Given the description of an element on the screen output the (x, y) to click on. 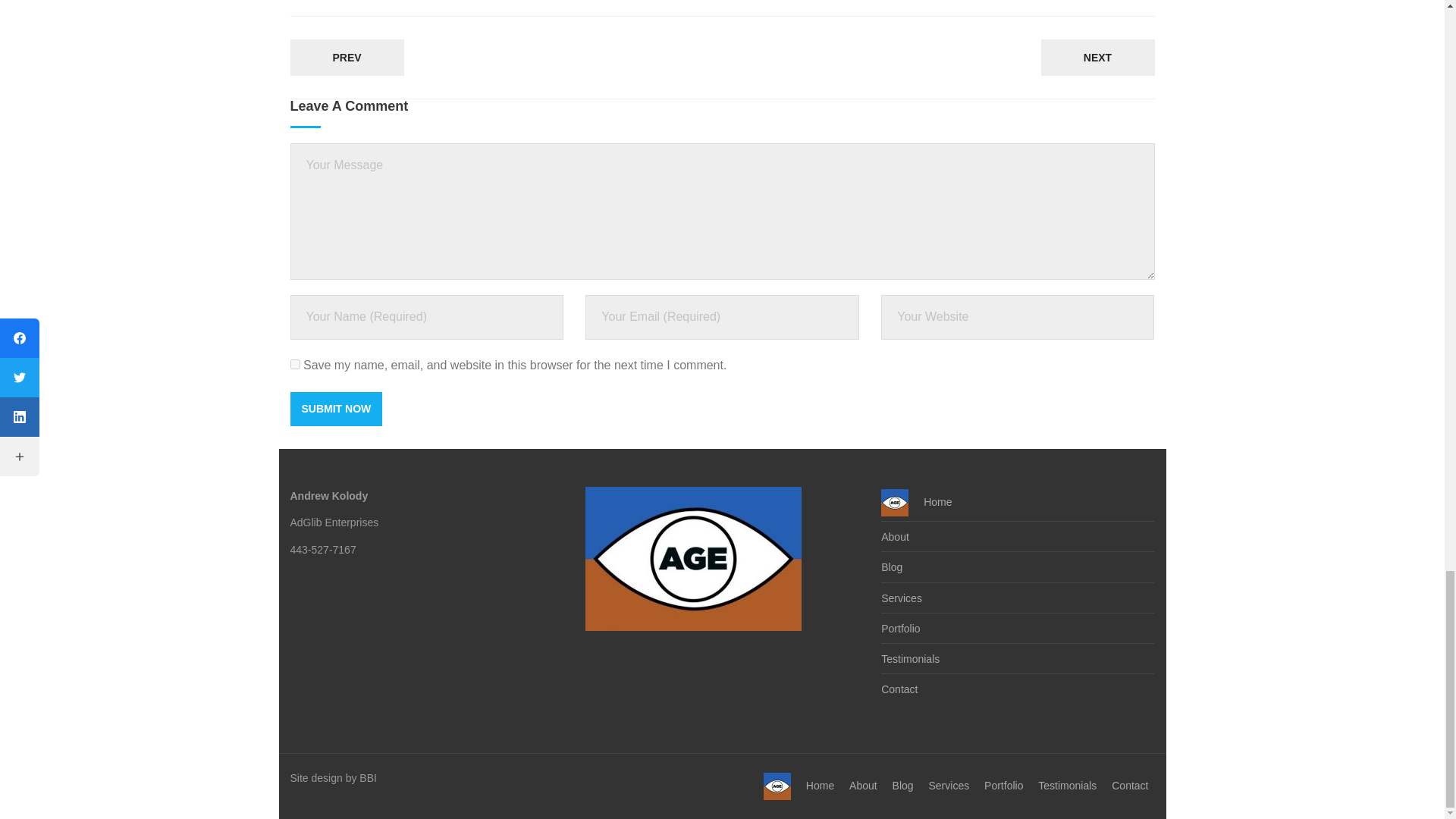
Portfolio (900, 629)
Submit Now (335, 408)
Testimonials (909, 659)
yes (294, 364)
Home (916, 502)
About (894, 537)
Submit Now (335, 408)
NEXT (1097, 57)
PREV (346, 57)
Blog (891, 567)
Services (900, 598)
Contact (898, 689)
